Given the description of an element on the screen output the (x, y) to click on. 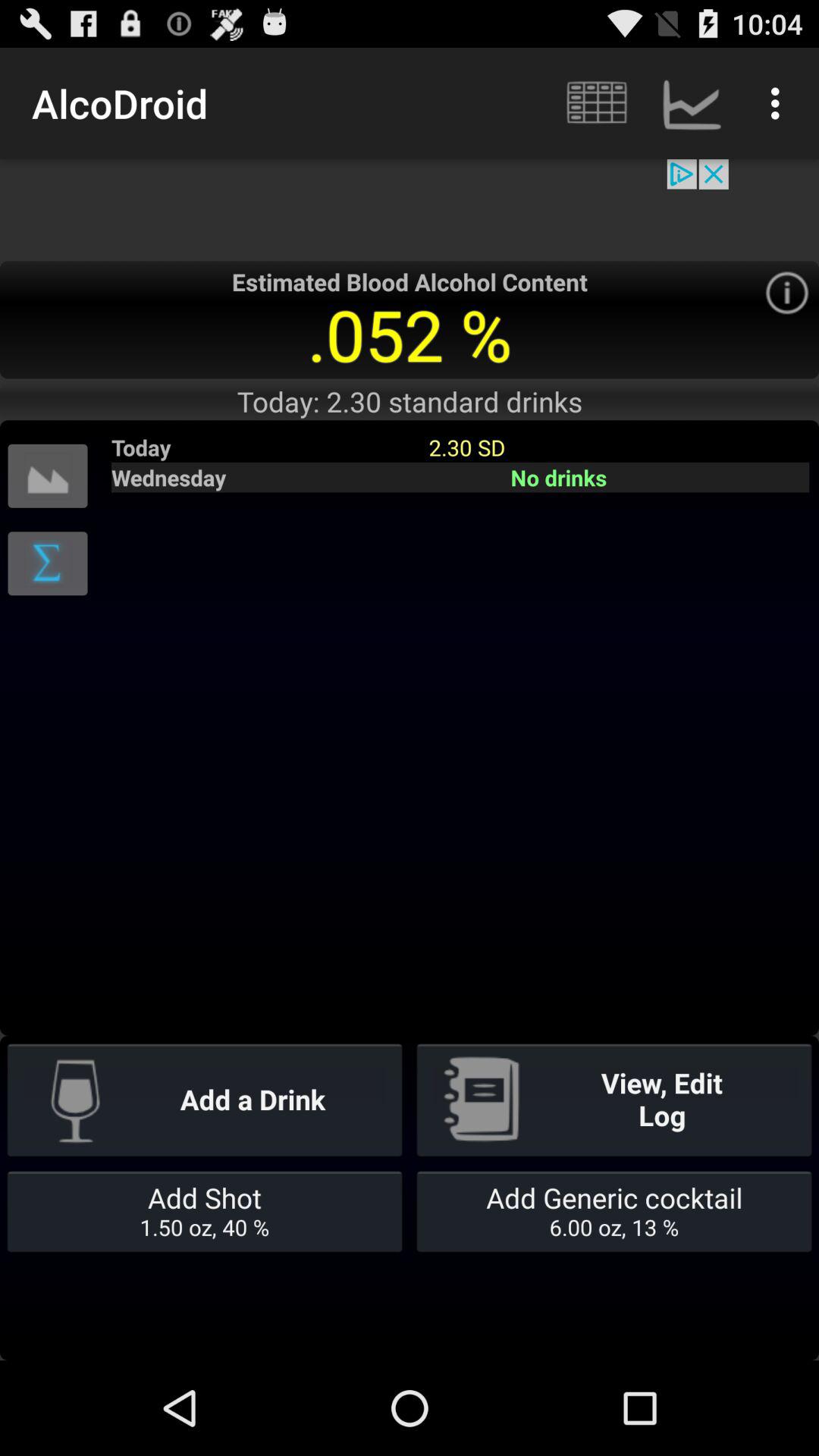
select the icon left to three dots (691, 103)
